Given the description of an element on the screen output the (x, y) to click on. 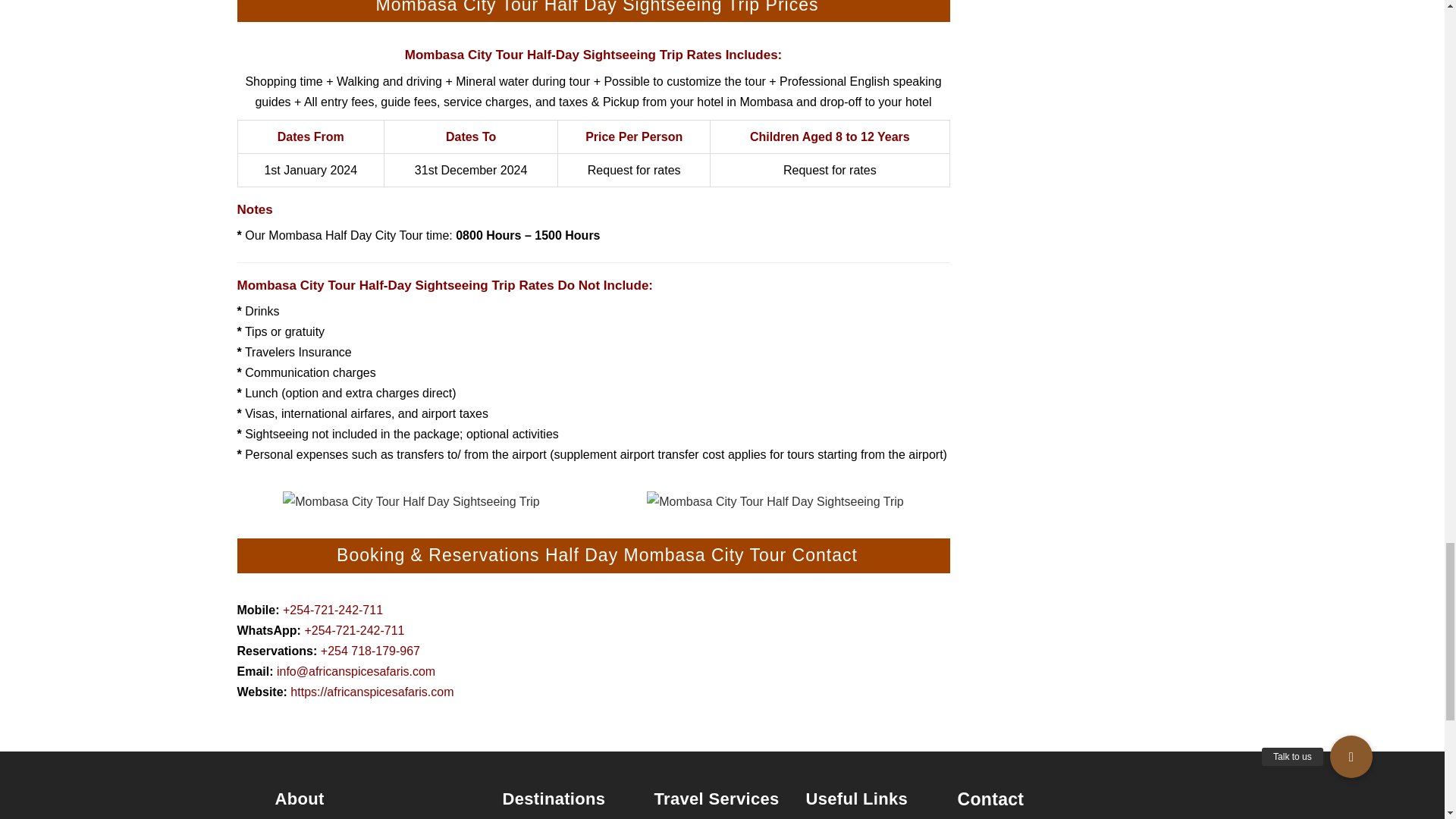
mombasa-old-town-city-tour (775, 501)
mombasa-half-day-city-tour (411, 501)
